Given the description of an element on the screen output the (x, y) to click on. 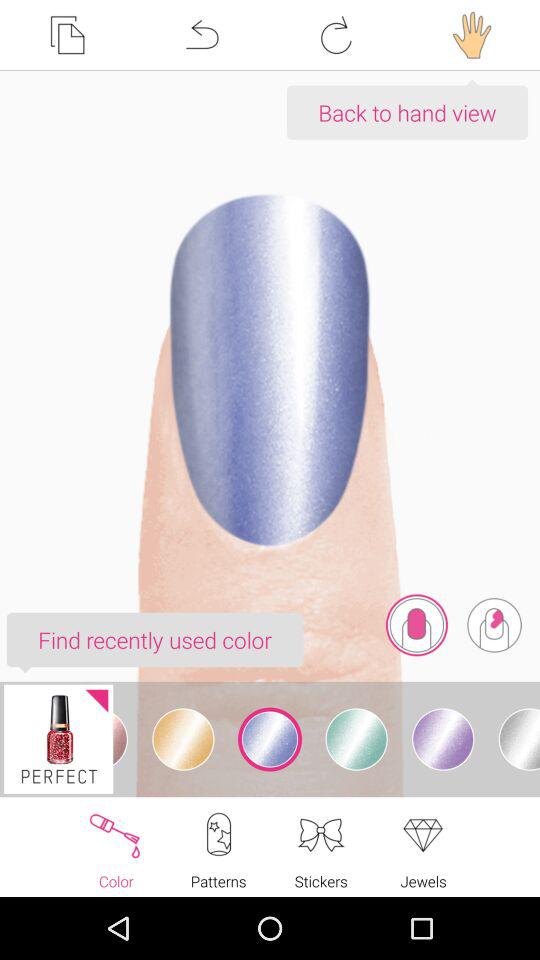
turn on icon below the back to hand icon (416, 625)
